Given the description of an element on the screen output the (x, y) to click on. 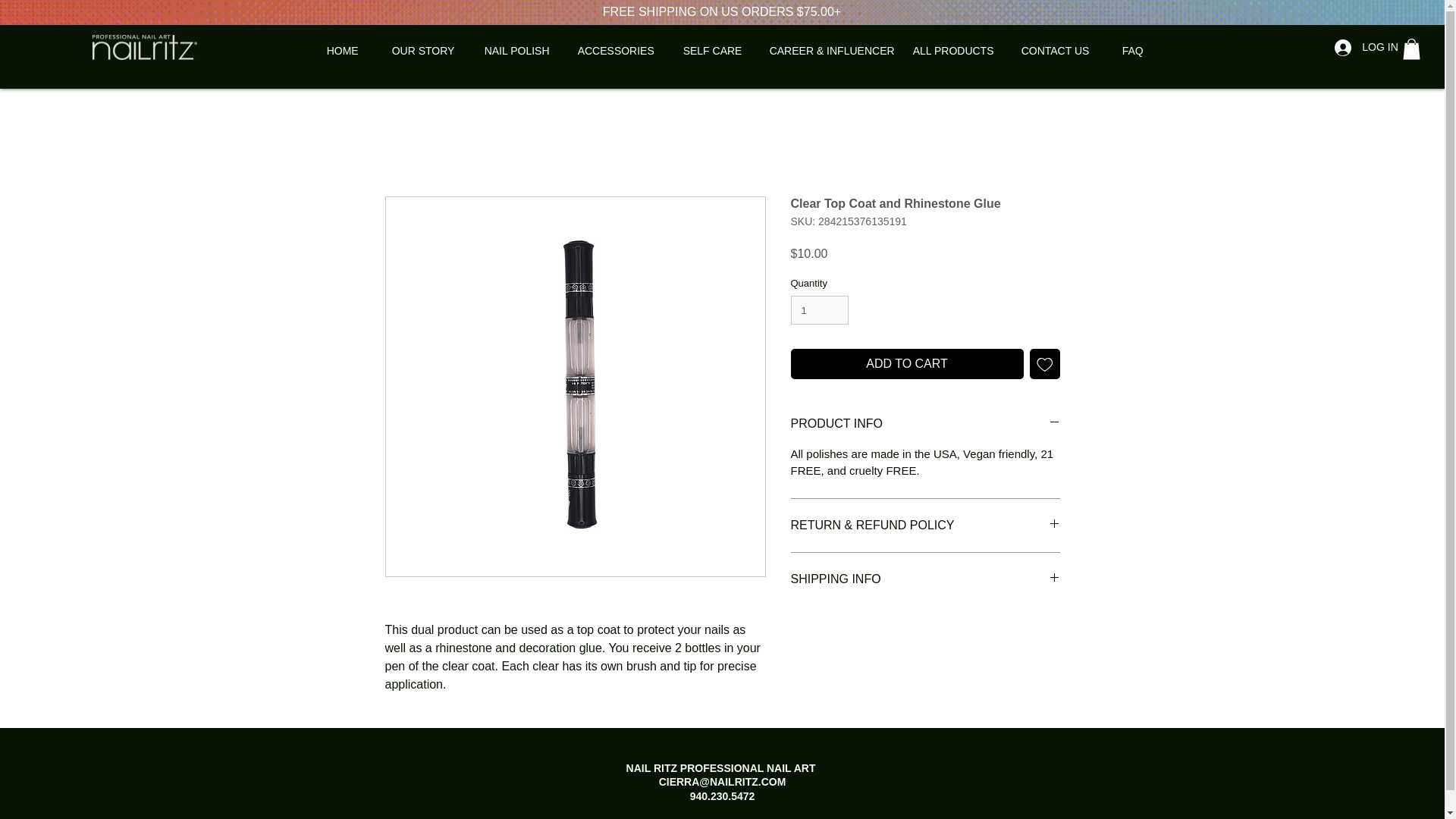
SHIPPING INFO (924, 579)
NAIL POLISH (523, 50)
OUR STORY (430, 50)
1 (818, 309)
SELF CARE (718, 50)
HOME (351, 50)
ACCESSORIES (622, 50)
ALL PRODUCTS (959, 50)
LOG IN (1362, 47)
PRODUCT INFO (924, 423)
